Given the description of an element on the screen output the (x, y) to click on. 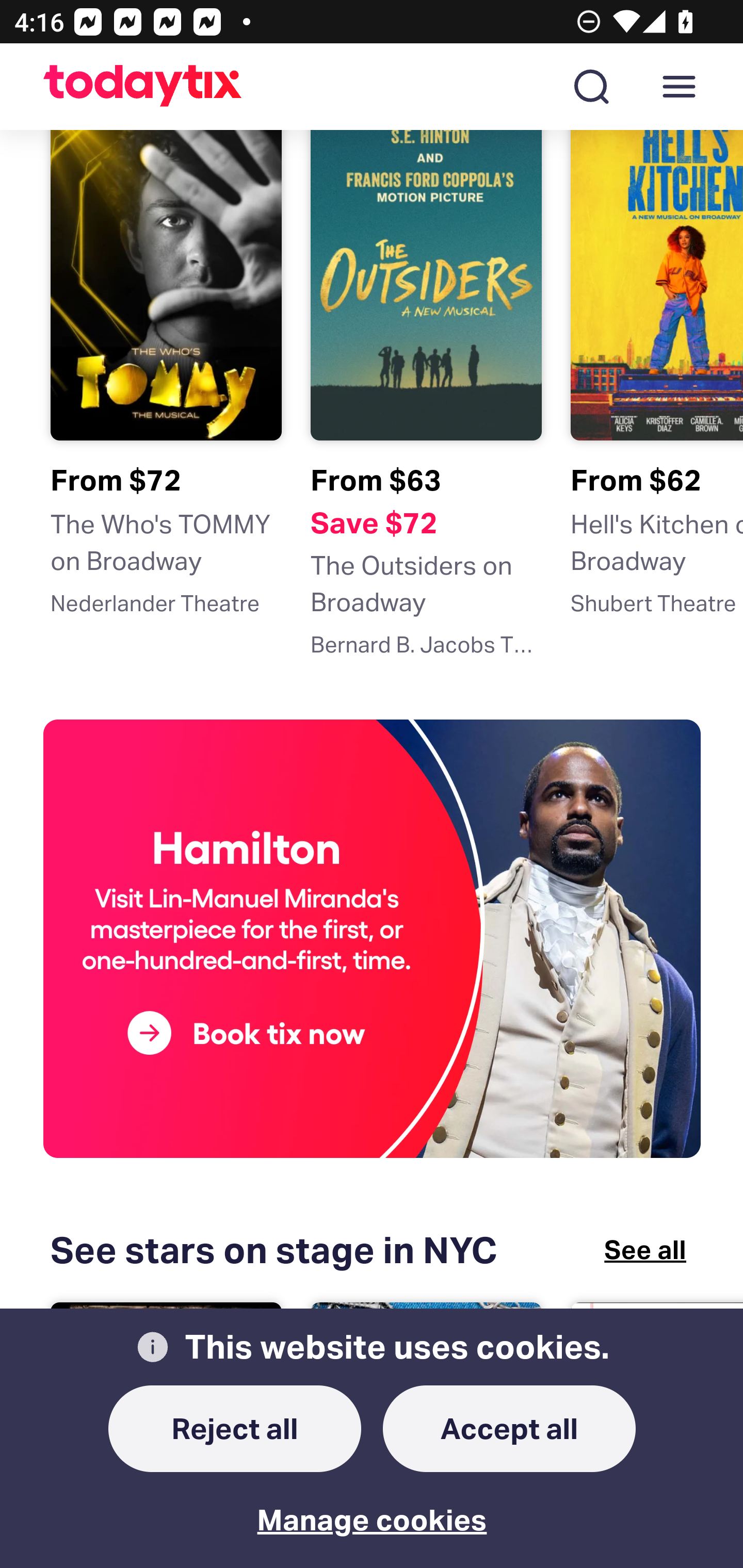
TodayTix Logo (143, 86)
Product Banner (372, 943)
See all (645, 1249)
Reject all (235, 1428)
Accept all (509, 1428)
Manage cookies (372, 1505)
